Given the description of an element on the screen output the (x, y) to click on. 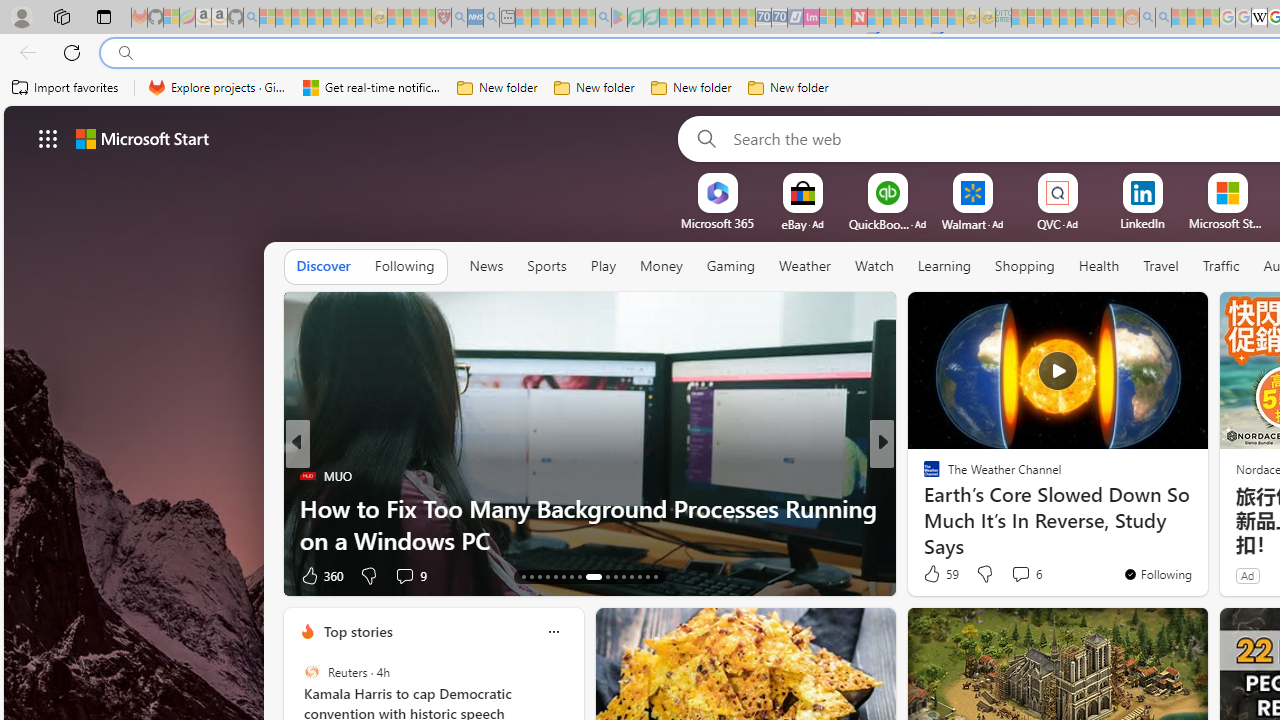
View comments 6 Comment (1025, 574)
Play (603, 267)
View comments 8 Comment (1014, 575)
Latest Politics News & Archive | Newsweek.com - Sleeping (859, 17)
Learning (944, 265)
Weather (804, 265)
Kinda Frugal - MSN - Sleeping (1083, 17)
AutomationID: tab-20 (578, 576)
DITOGAMES AG Imprint - Sleeping (1003, 17)
Health (1098, 267)
